Given the description of an element on the screen output the (x, y) to click on. 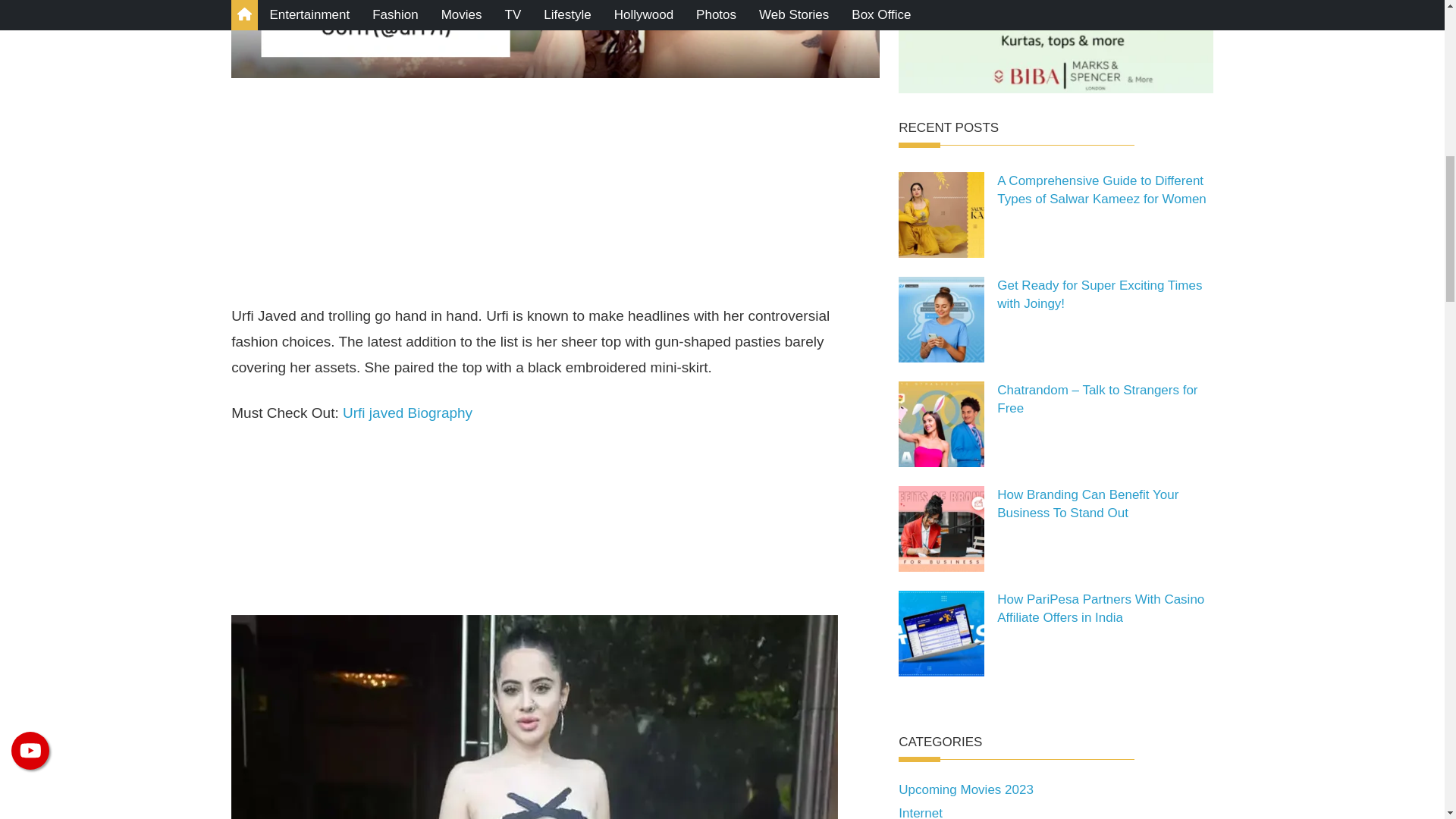
Urfi javed Biography (406, 412)
